Given the description of an element on the screen output the (x, y) to click on. 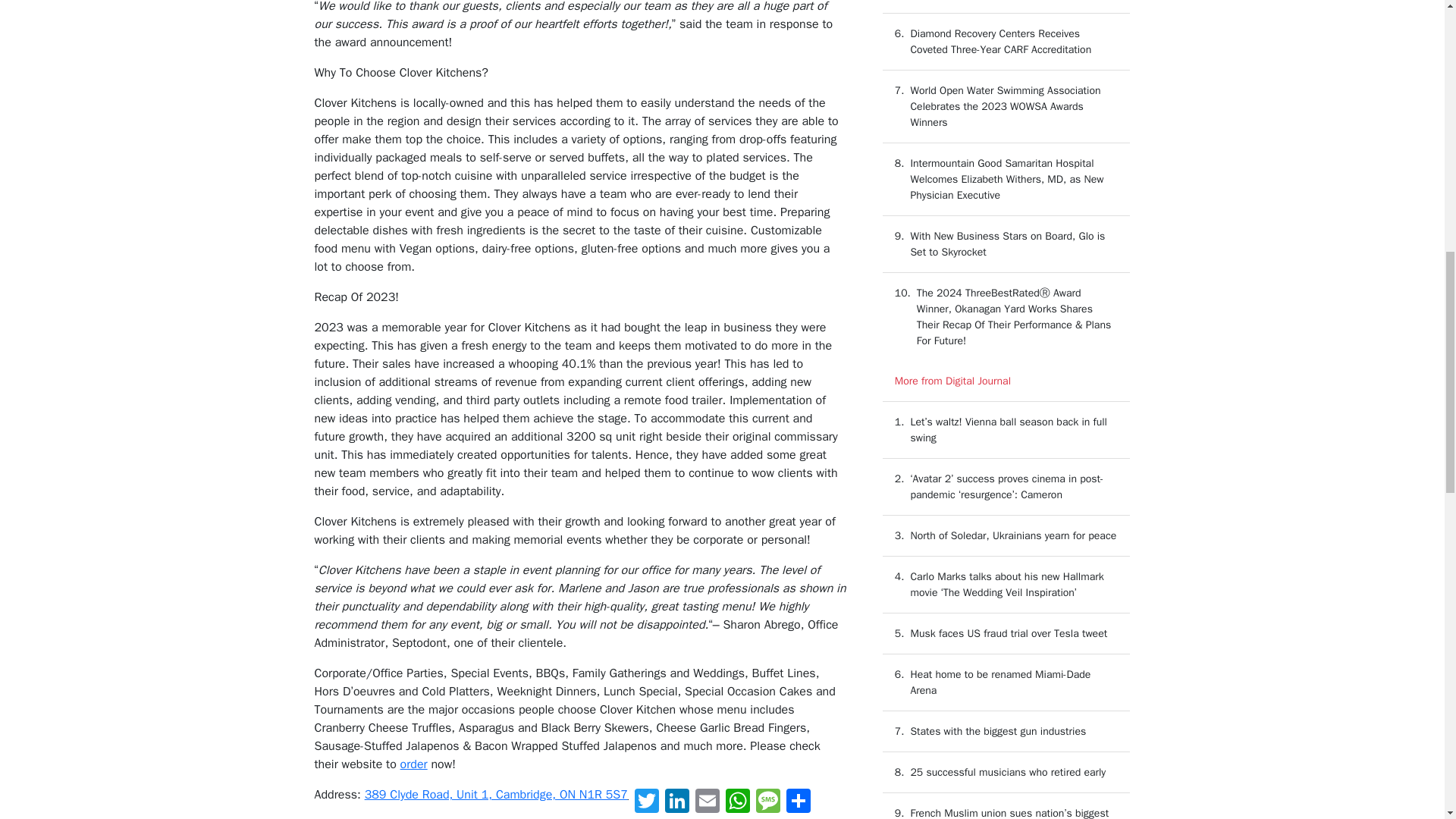
25 successful musicians who retired early (1007, 771)
order (414, 764)
North of Soledar, Ukrainians yearn for peace (1013, 535)
389 Clyde Road, Unit 1, Cambridge, ON N1R 5S7 (496, 794)
Heat home to be renamed Miami-Dade Arena (1000, 682)
States with the biggest gun industries (998, 730)
Musk faces US fraud trial over Tesla tweet (1008, 633)
With New Business Stars on Board, Glo is Set to Skyrocket (1007, 244)
